Given the description of an element on the screen output the (x, y) to click on. 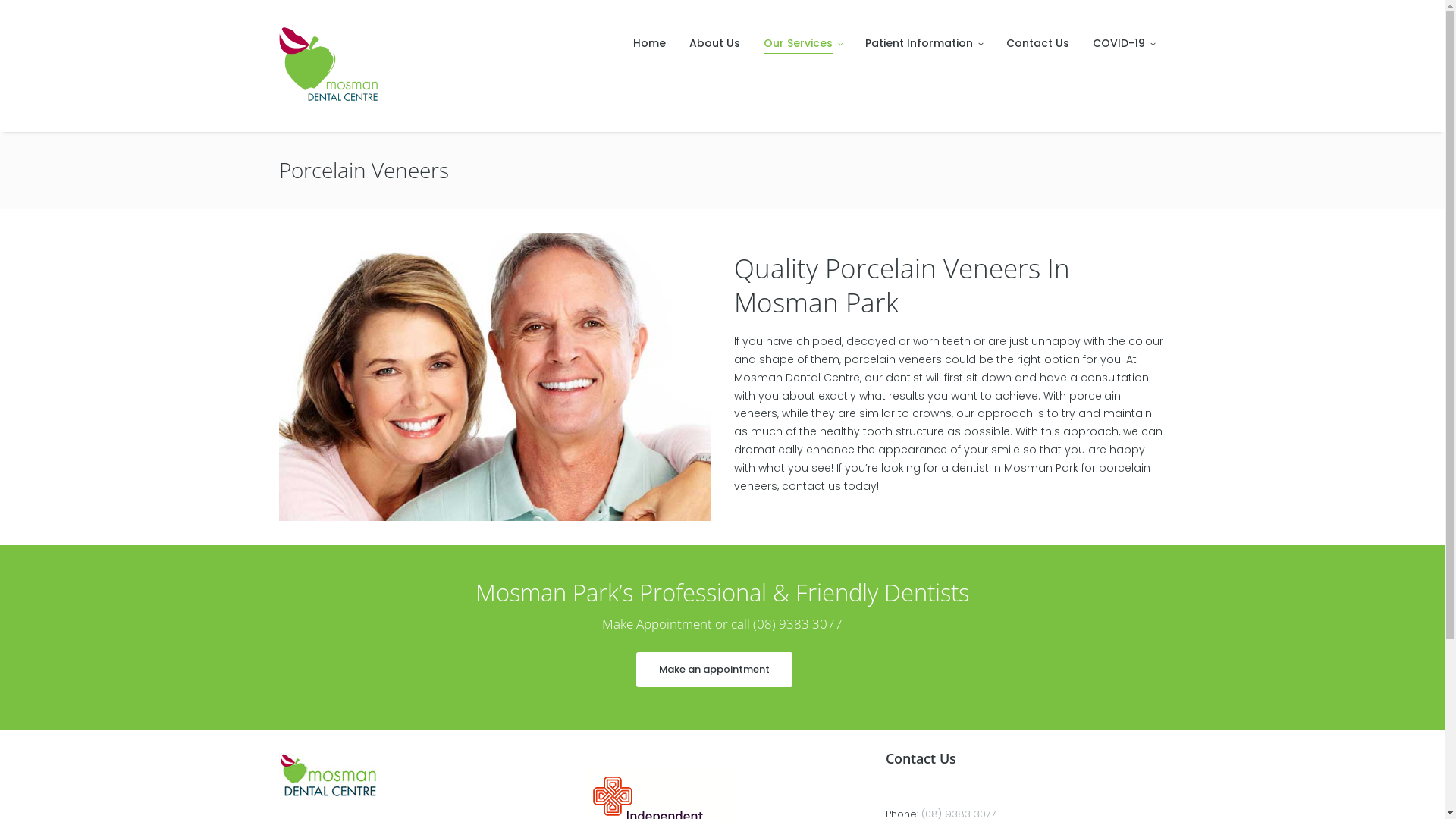
Contact Us Element type: text (1037, 43)
About Us Element type: text (714, 43)
Patient Information Element type: text (923, 43)
COVID-19 Element type: text (1122, 43)
Our Services Element type: text (802, 43)
Make an appointment Element type: text (713, 669)
Home Element type: text (649, 43)
